Given the description of an element on the screen output the (x, y) to click on. 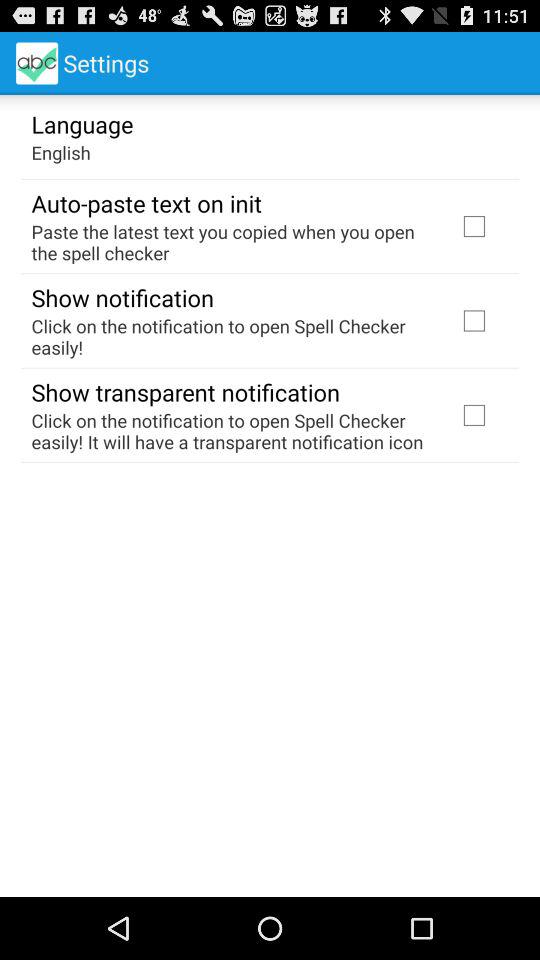
click the item above the english item (82, 123)
